Given the description of an element on the screen output the (x, y) to click on. 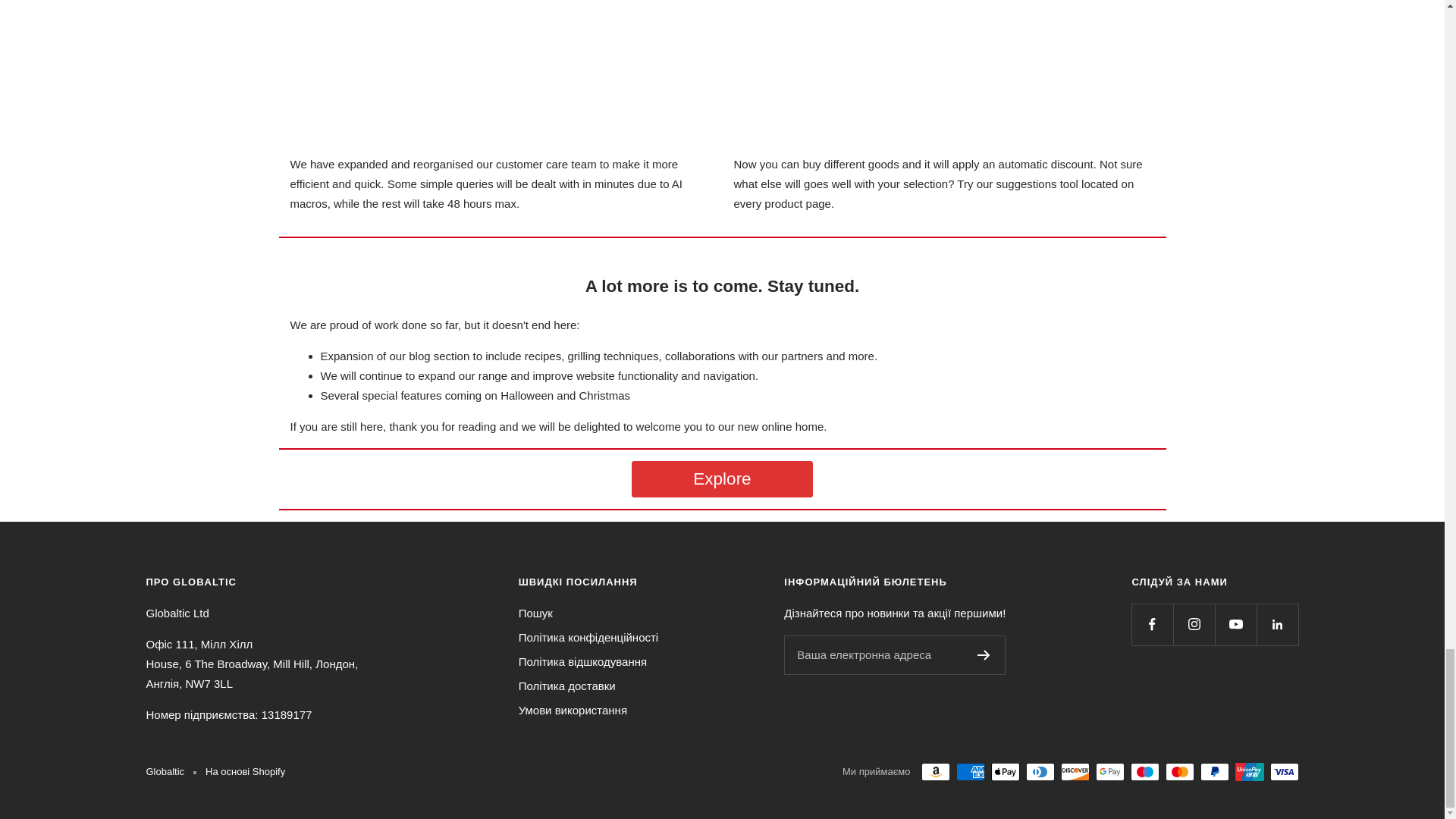
Explore (721, 478)
